Given the description of an element on the screen output the (x, y) to click on. 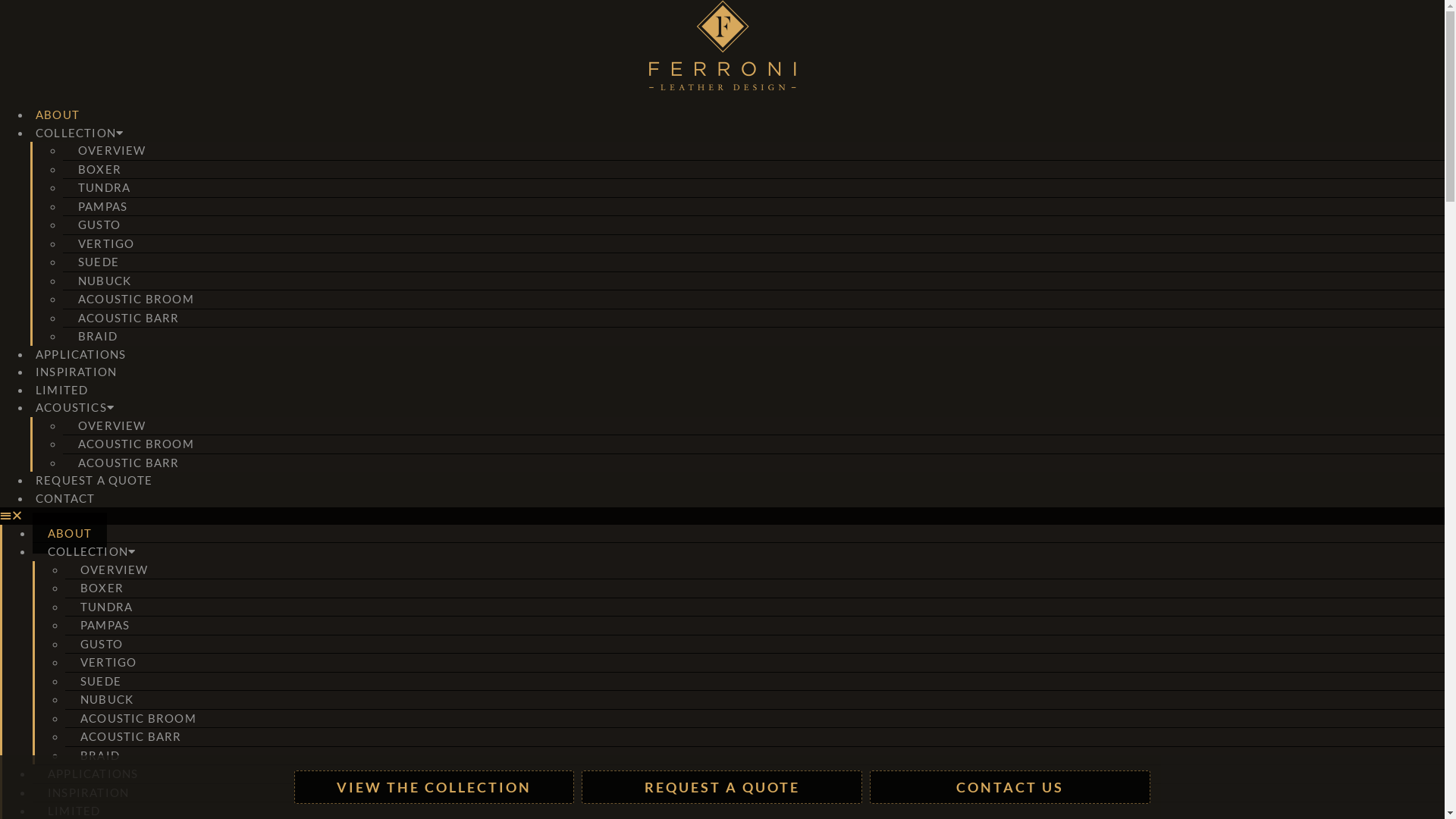
REQUEST A QUOTE Element type: text (721, 786)
VERTIGO Element type: text (108, 661)
PAMPAS Element type: text (104, 624)
VIEW THE COLLECTION Element type: text (434, 786)
BOXER Element type: text (101, 587)
BRAID Element type: text (99, 754)
BRAID Element type: text (97, 335)
ABOUT Element type: text (57, 114)
CONTACT Element type: text (65, 498)
TUNDRA Element type: text (103, 186)
ABOUT Element type: text (69, 532)
COLLECTION Element type: text (79, 132)
COLLECTION Element type: text (91, 550)
LIMITED Element type: text (61, 389)
SUEDE Element type: text (100, 679)
OVERVIEW Element type: text (111, 149)
OVERVIEW Element type: text (114, 569)
INSPIRATION Element type: text (88, 791)
CONTACT US Element type: text (1009, 786)
NUBUCK Element type: text (104, 279)
ACOUSTIC BARR Element type: text (128, 317)
INSPIRATION Element type: text (76, 371)
PAMPAS Element type: text (102, 205)
ACOUSTIC BARR Element type: text (128, 461)
OVERVIEW Element type: text (111, 424)
ACOUSTIC BROOM Element type: text (138, 717)
ACOUSTIC BROOM Element type: text (135, 443)
ACOUSTIC BARR Element type: text (131, 735)
GUSTO Element type: text (101, 643)
ACOUSTICS Element type: text (74, 407)
TUNDRA Element type: text (106, 605)
ACOUSTIC BROOM Element type: text (135, 298)
APPLICATIONS Element type: text (92, 773)
NUBUCK Element type: text (106, 698)
VERTIGO Element type: text (105, 242)
GUSTO Element type: text (98, 223)
SUEDE Element type: text (98, 261)
REQUEST A QUOTE Element type: text (93, 480)
APPLICATIONS Element type: text (80, 354)
BOXER Element type: text (99, 168)
